Given the description of an element on the screen output the (x, y) to click on. 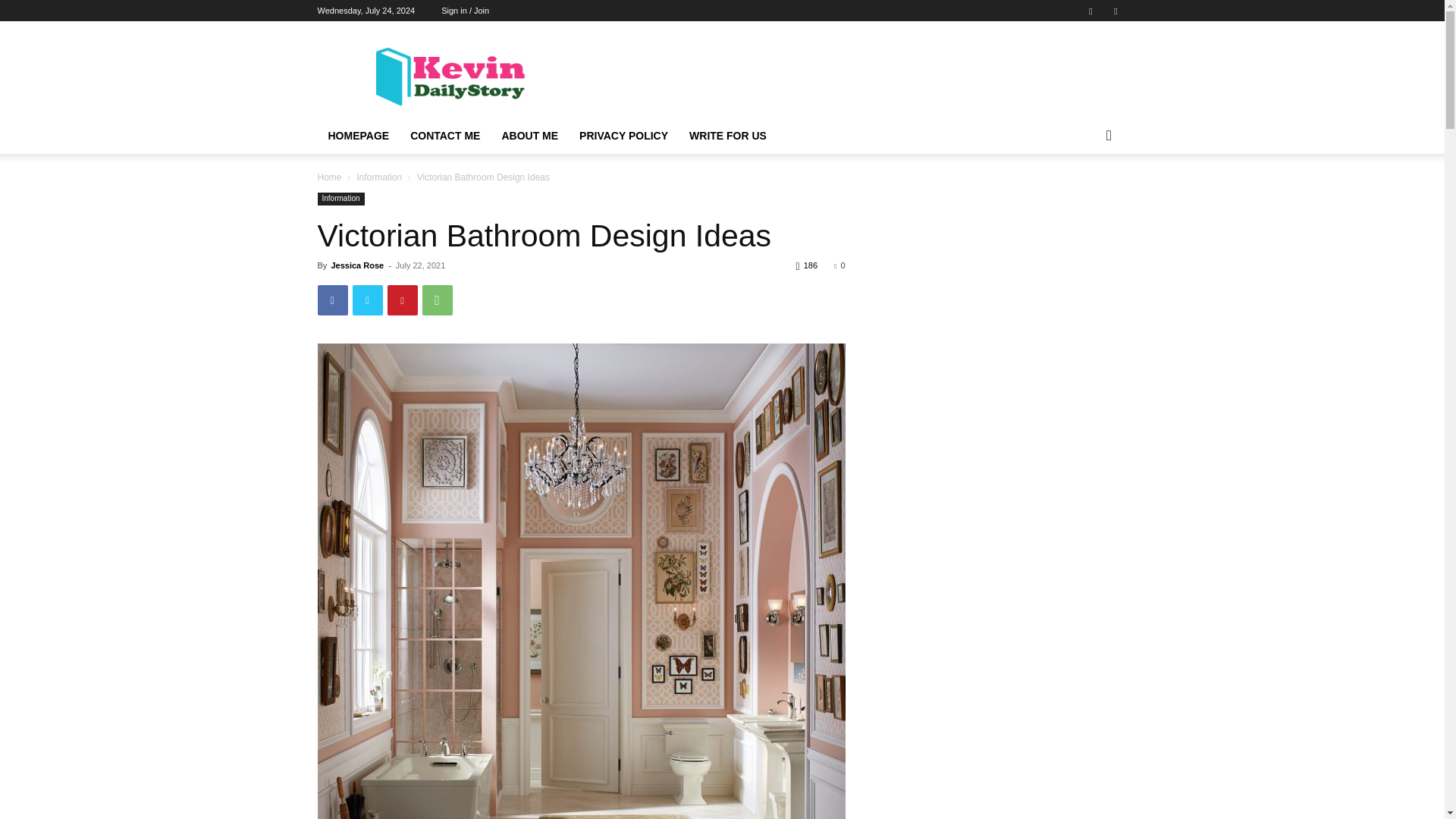
CONTACT ME (444, 135)
Jessica Rose (357, 265)
Search (1085, 196)
View all posts in Information (378, 176)
0 (839, 265)
Facebook (332, 300)
ABOUT ME (529, 135)
HOMEPAGE (357, 135)
Twitter (1114, 10)
Home (328, 176)
Facebook (1090, 10)
Information (340, 198)
WhatsApp (436, 300)
Twitter (366, 300)
WRITE FOR US (727, 135)
